Given the description of an element on the screen output the (x, y) to click on. 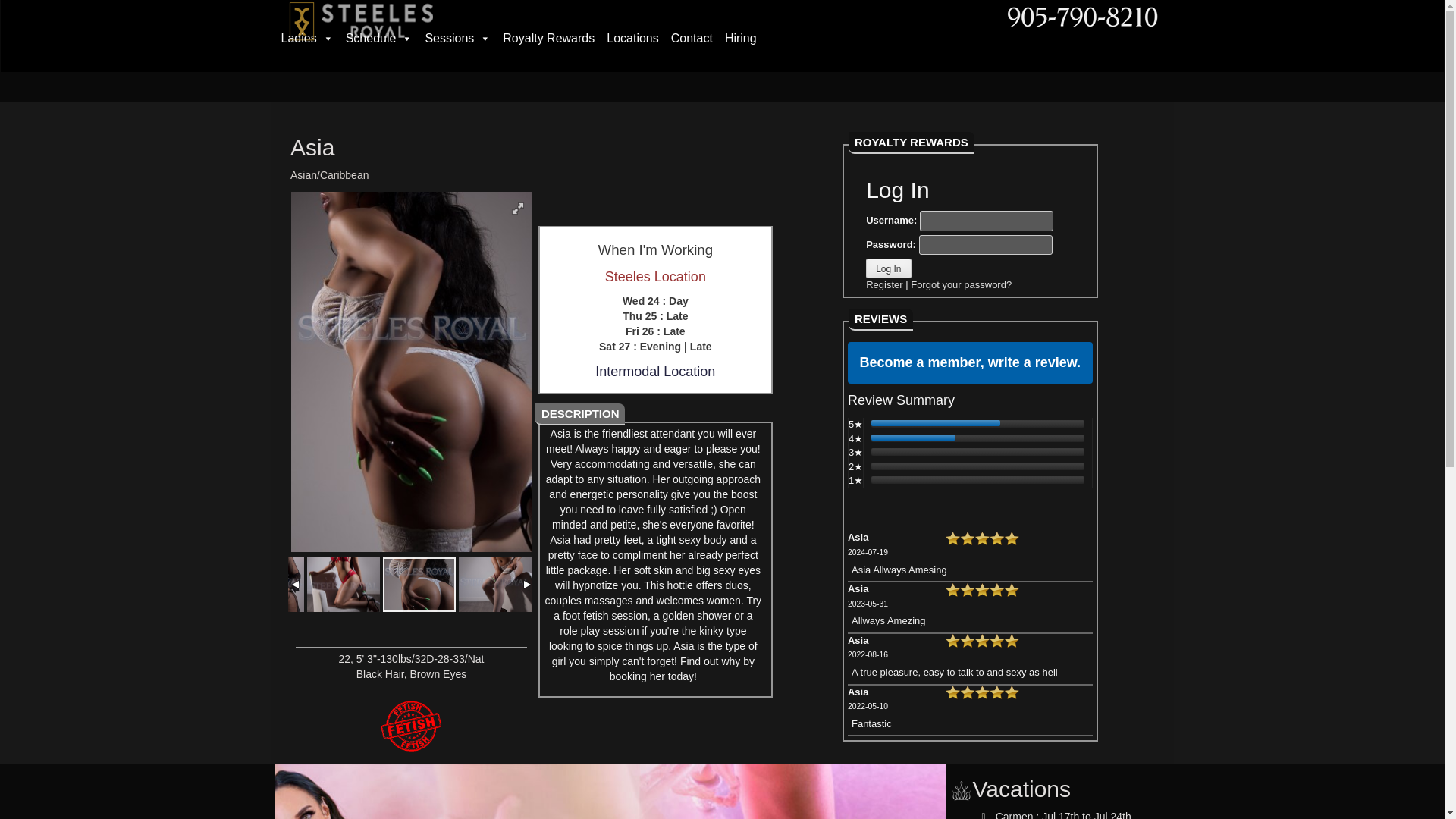
Sessions (457, 38)
Schedule (379, 38)
Ladies (307, 38)
Log In (888, 268)
hiring-1162x518 (136, 791)
Skip to content (336, 47)
brittany (609, 791)
